Given the description of an element on the screen output the (x, y) to click on. 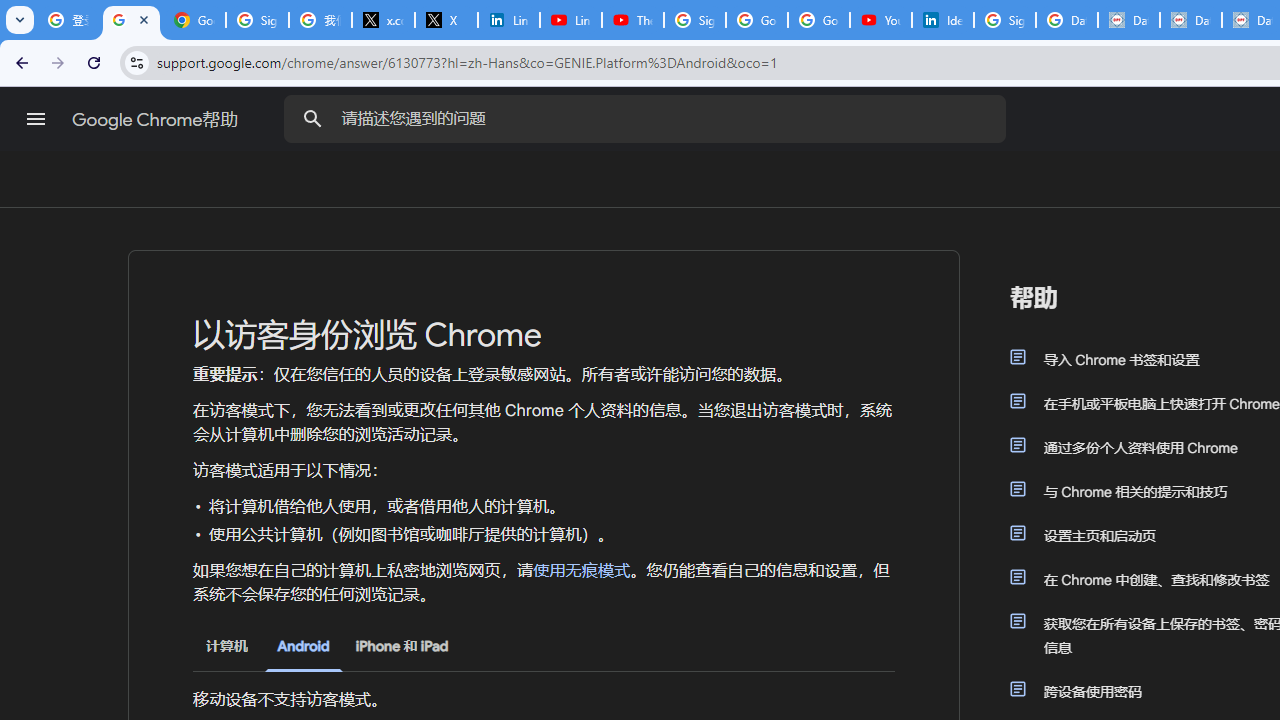
Sign in - Google Accounts (1004, 20)
